Given the description of an element on the screen output the (x, y) to click on. 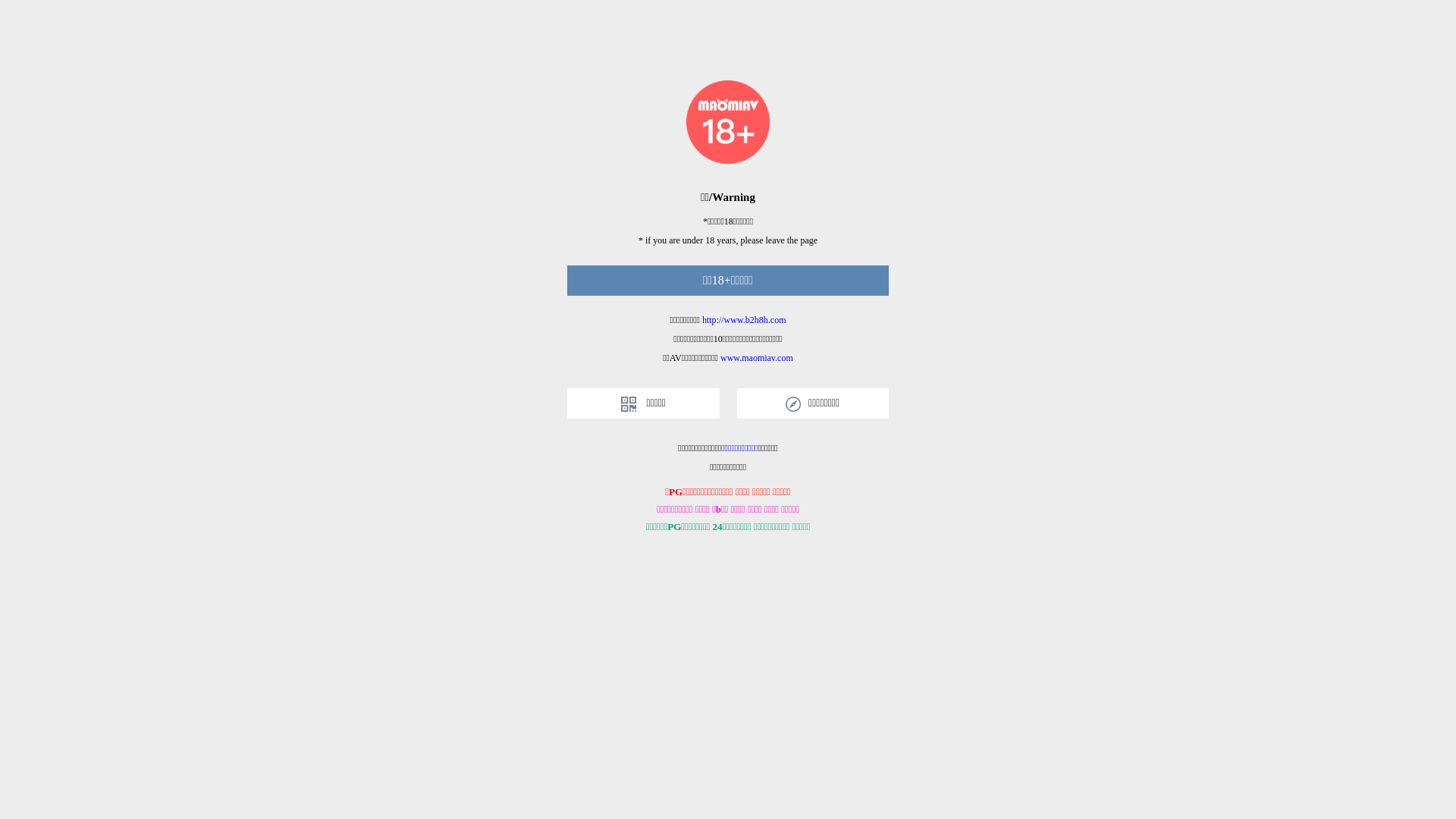
http://www.b2h8h.com Element type: text (744, 319)
www.maomiav.com Element type: text (756, 357)
